Given the description of an element on the screen output the (x, y) to click on. 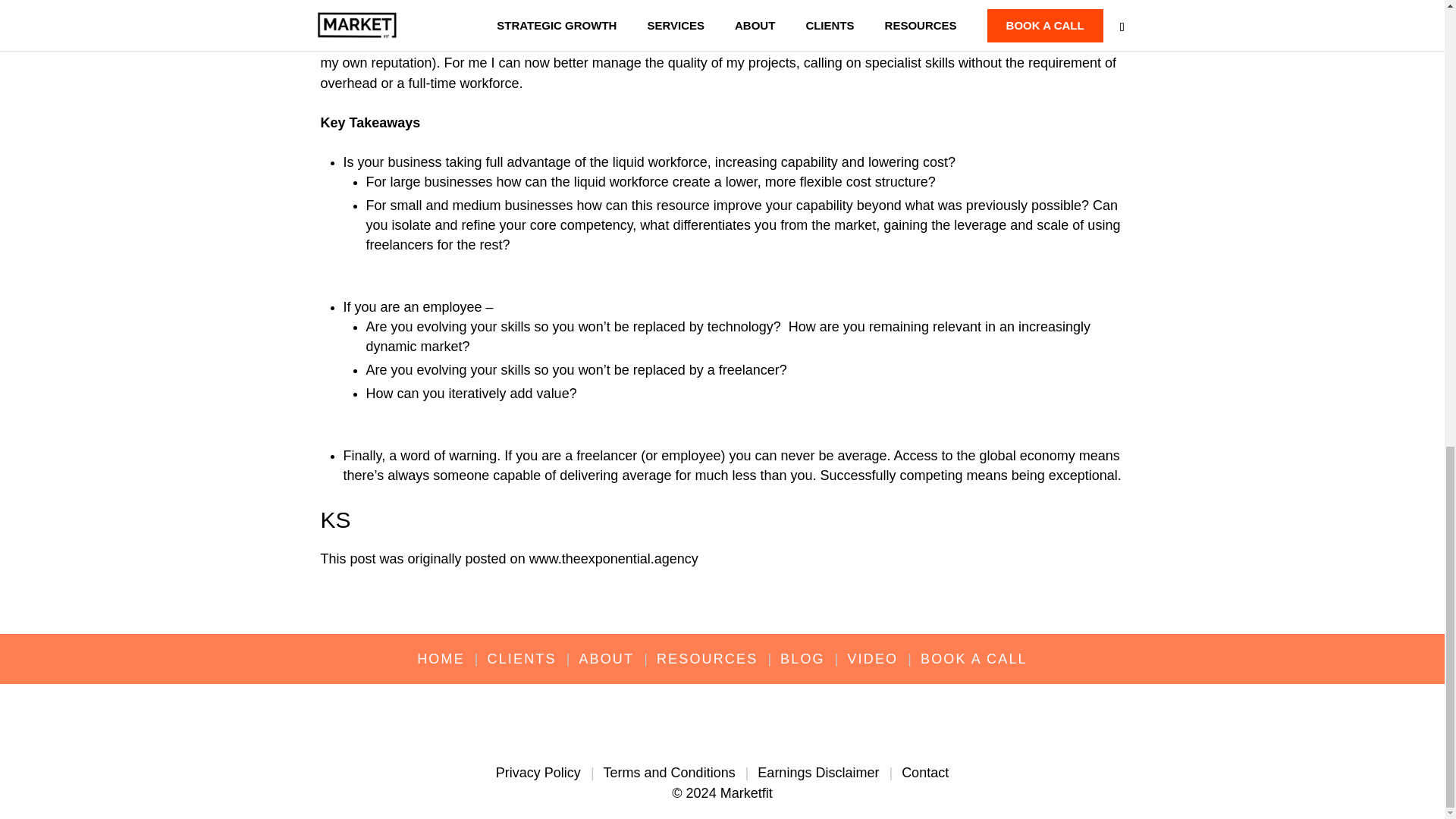
CLIENTS (521, 660)
Terms and Conditions (669, 772)
Privacy Policy (538, 772)
BLOG (802, 660)
RESOURCES (706, 660)
VIDEO (872, 660)
ABOUT (605, 660)
BOOK A CALL (973, 660)
Contact (925, 772)
Earnings Disclaimer (818, 772)
HOME (440, 660)
